Given the description of an element on the screen output the (x, y) to click on. 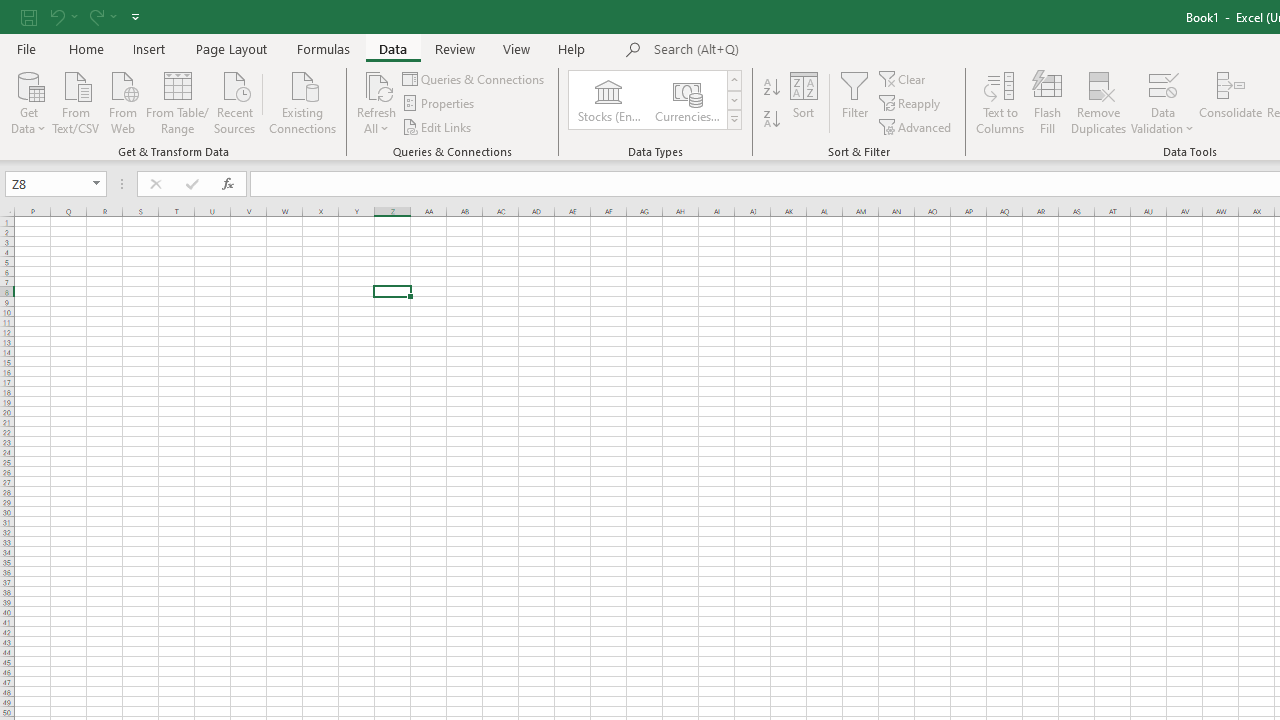
Stocks (English) (608, 100)
Data Validation... (1162, 102)
Properties (440, 103)
From Text/CSV (75, 101)
Queries & Connections (474, 78)
Edit Links (438, 126)
Row up (734, 79)
Remove Duplicates (1098, 102)
Row Down (734, 100)
Sort Z to A (772, 119)
Reapply (911, 103)
